Given the description of an element on the screen output the (x, y) to click on. 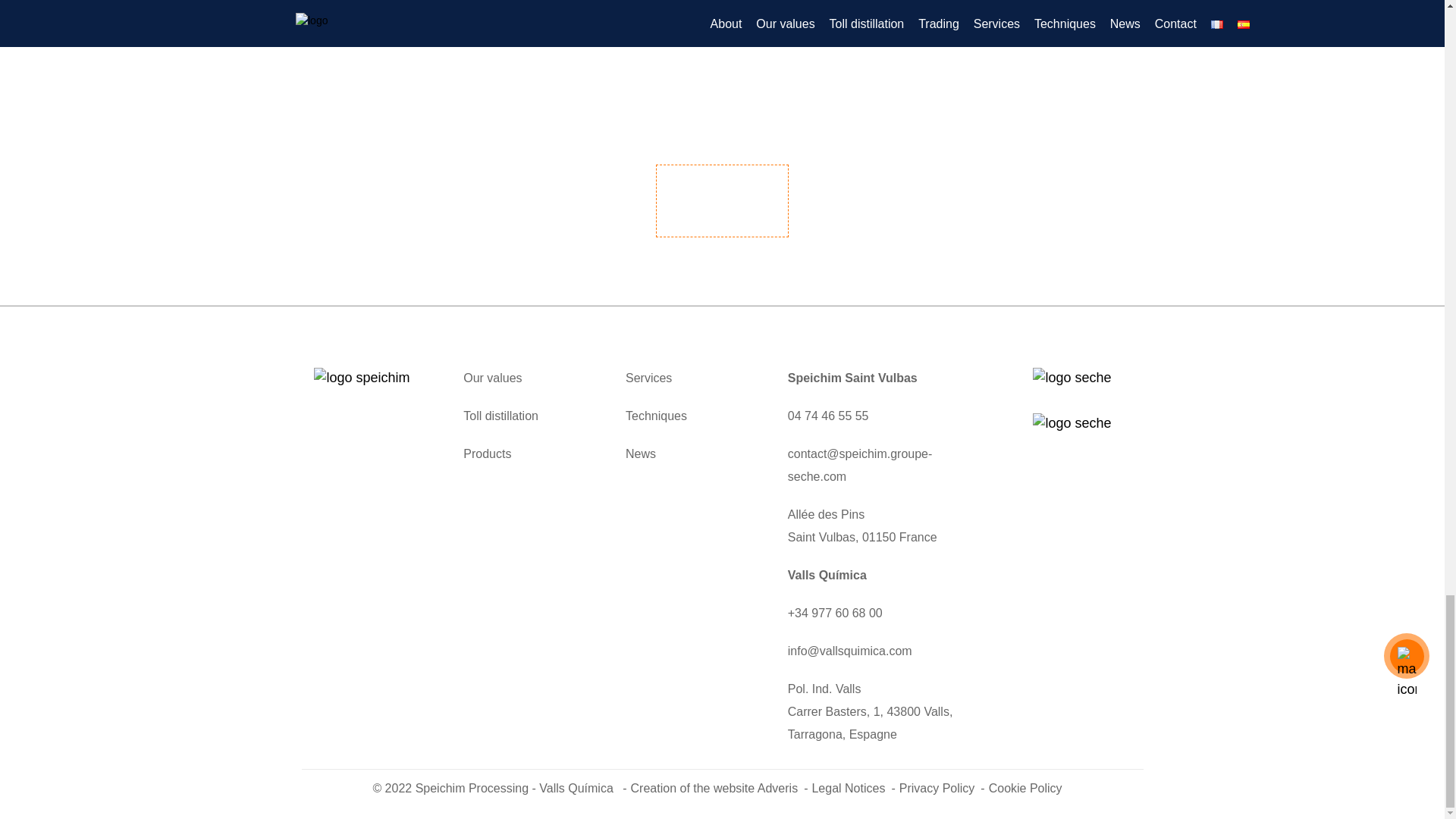
Legal Notices (852, 788)
Products (487, 454)
Services (648, 377)
Techniques (656, 415)
Toll distillation (500, 415)
Creation of the website Adveris (719, 788)
Our values (492, 377)
News (641, 454)
WRITE US (721, 200)
